Given the description of an element on the screen output the (x, y) to click on. 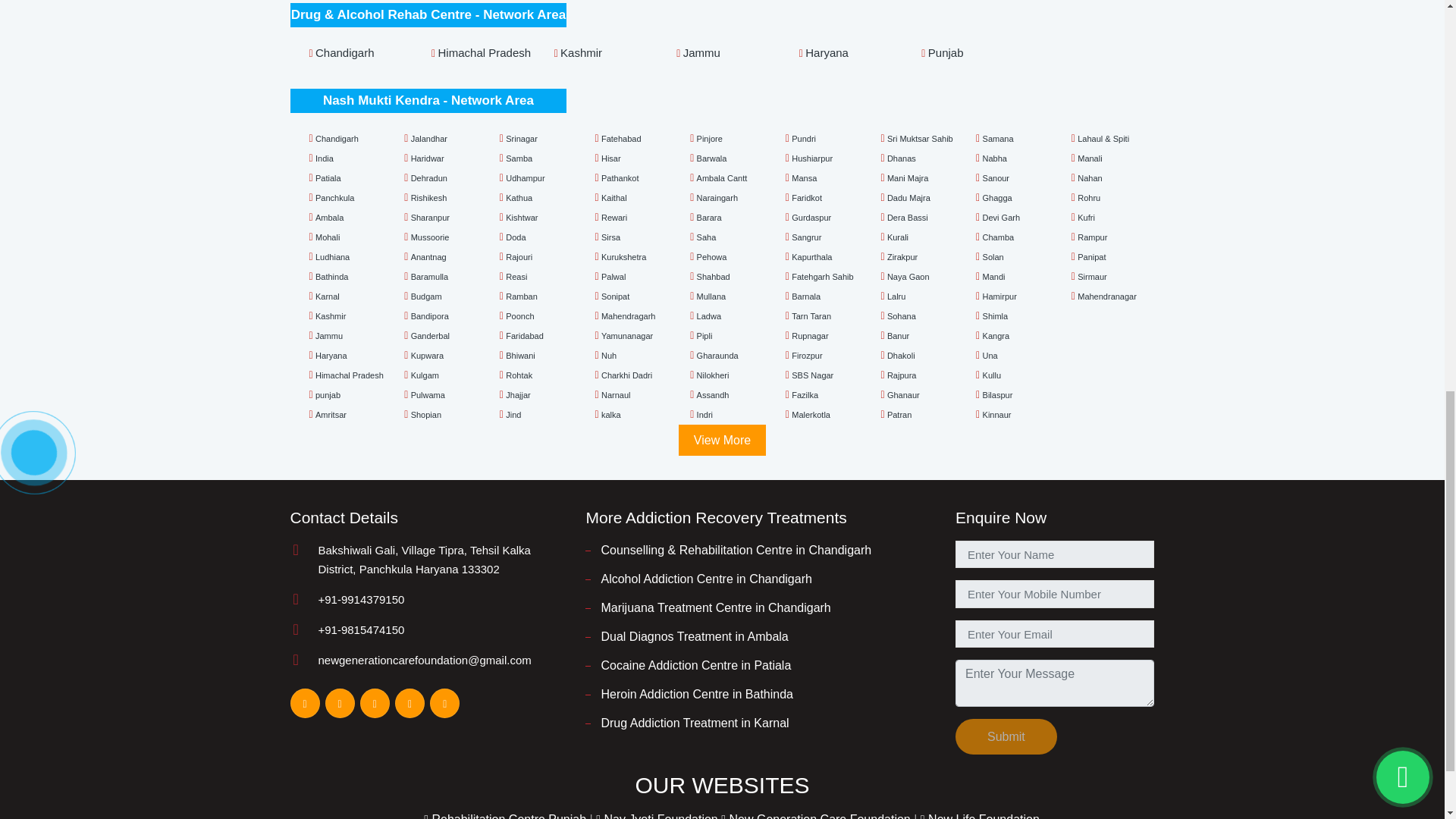
Accept Only Name and Space (1054, 554)
Accept Only Name and Space (1054, 683)
Submit (1006, 736)
